Given the description of an element on the screen output the (x, y) to click on. 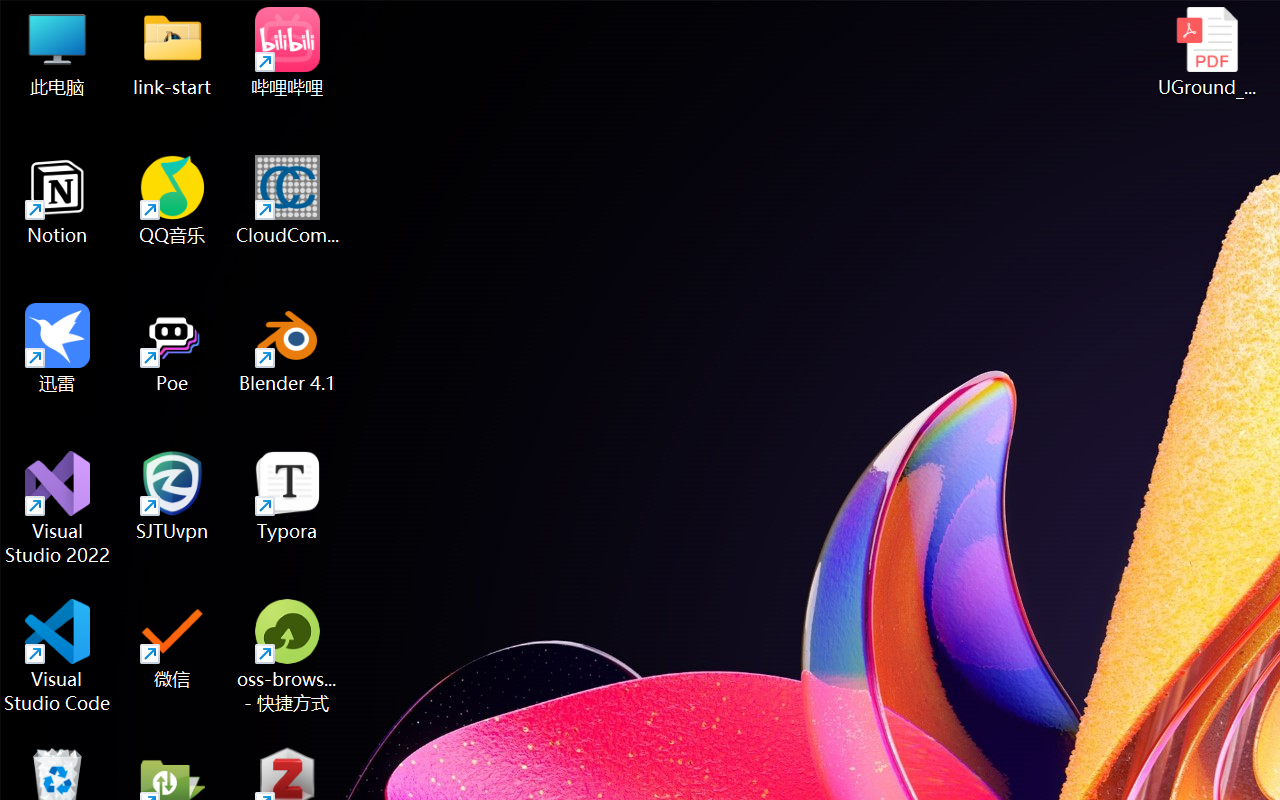
Blender 4.1 (287, 348)
CloudCompare (287, 200)
Typora (287, 496)
Visual Studio Code (57, 656)
Visual Studio 2022 (57, 508)
UGround_paper.pdf (1206, 52)
SJTUvpn (172, 496)
